Given the description of an element on the screen output the (x, y) to click on. 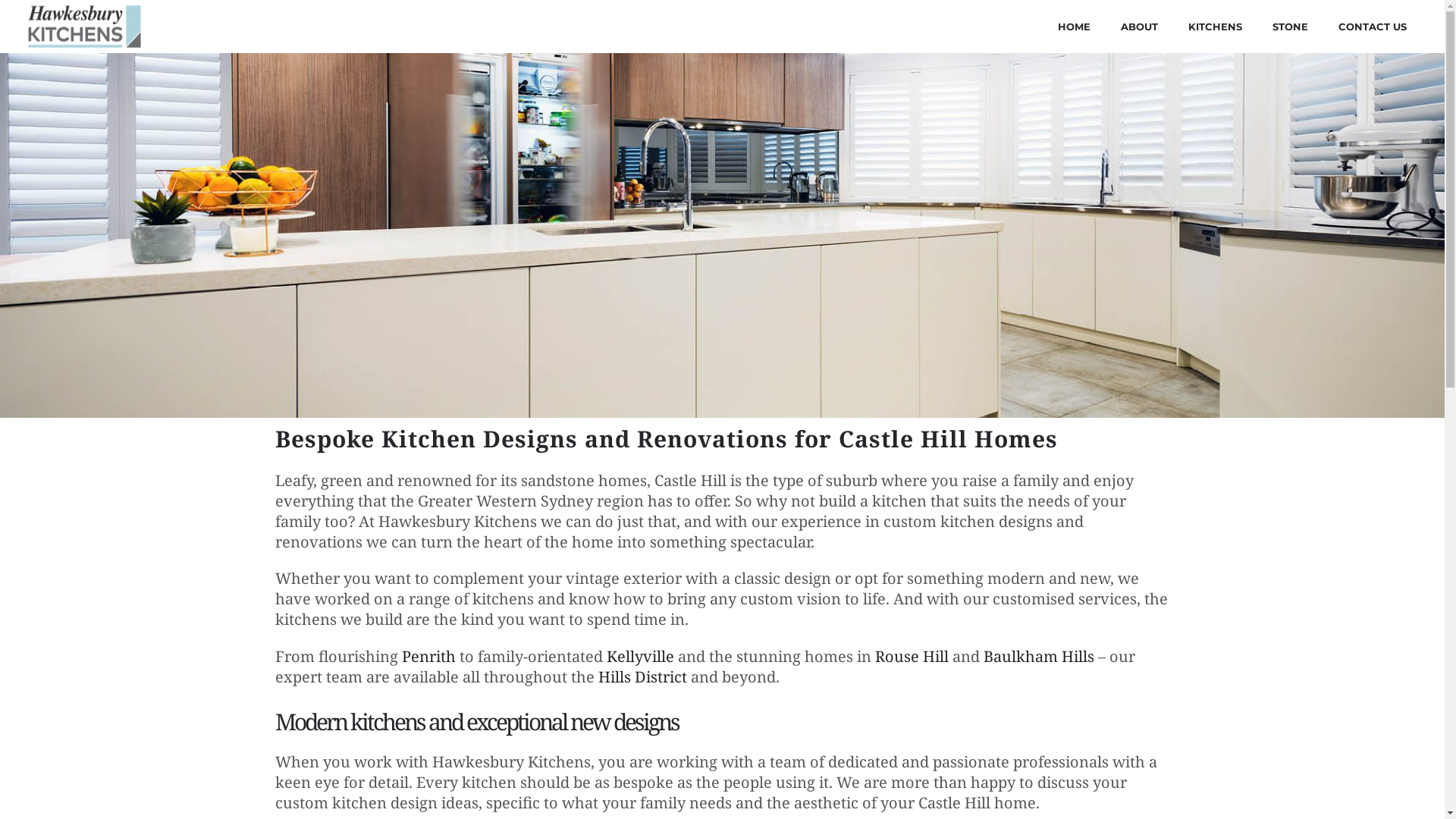
KITCHENS Element type: text (1215, 26)
Hills District Element type: text (641, 676)
CONTACT US Element type: text (1372, 26)
Rouse Hill Element type: text (911, 656)
ABOUT Element type: text (1139, 26)
Penrith Element type: text (428, 656)
Baulkham Hills Element type: text (1037, 656)
Modern style kitchen 1 Element type: hover (722, 235)
HOME Element type: text (1073, 26)
STONE Element type: text (1290, 26)
Kellyville Element type: text (640, 656)
